Given the description of an element on the screen output the (x, y) to click on. 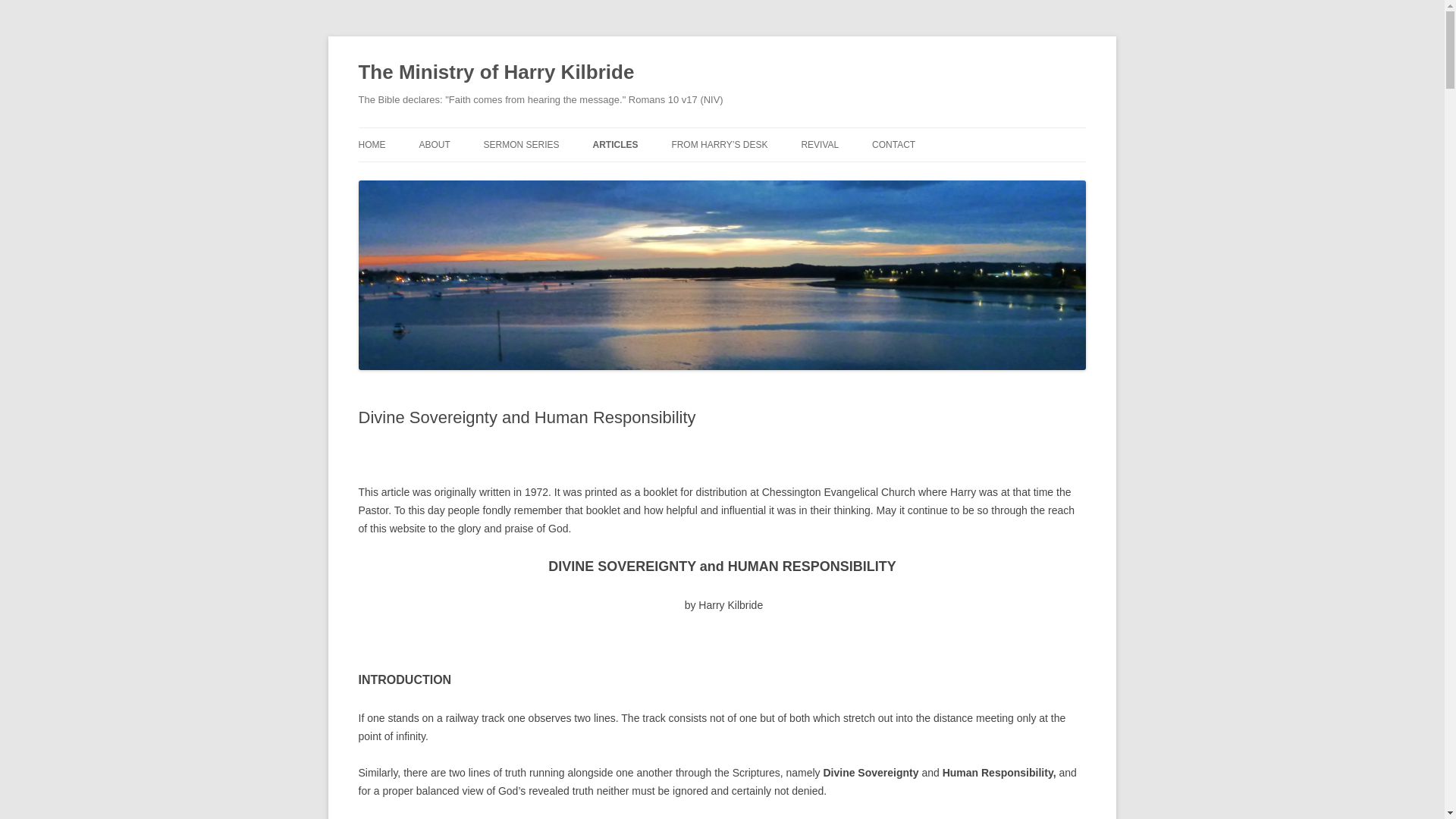
SERMON SERIES (521, 144)
ARTICLES (615, 144)
ABOUT (434, 144)
The Ministry of Harry Kilbride (495, 72)
